Given the description of an element on the screen output the (x, y) to click on. 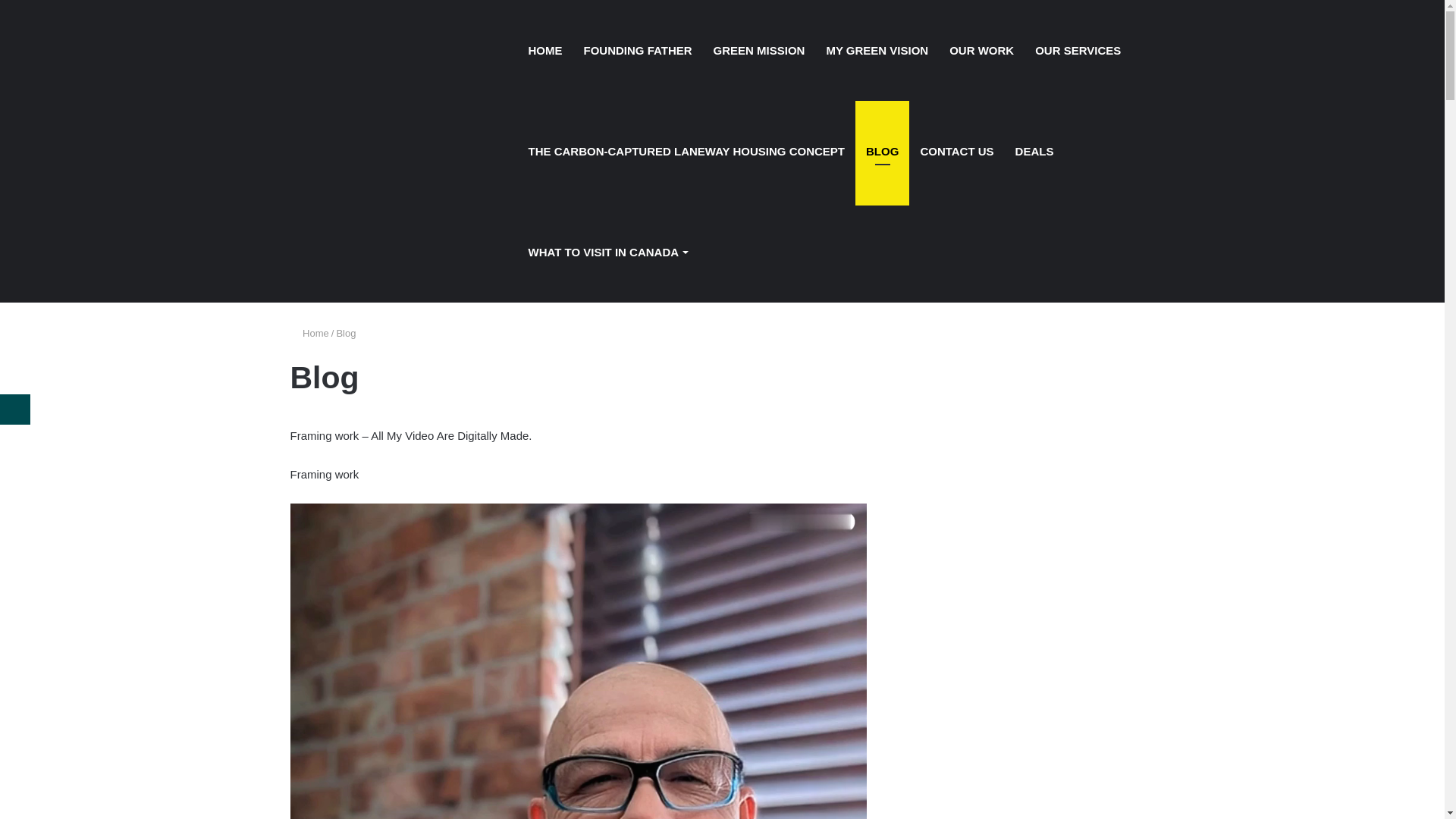
HOME Element type: text (544, 50)
GREEN MISSION Element type: text (758, 50)
WHAT TO VISIT IN CANADA Element type: text (607, 251)
Home Element type: text (308, 332)
MY GREEN VISION Element type: text (876, 50)
DEALS Element type: text (1034, 150)
OUR SERVICES Element type: text (1077, 50)
OUR WORK Element type: text (981, 50)
THE CARBON-CAPTURED LANEWAY HOUSING CONCEPT Element type: text (686, 150)
FOUNDING FATHER Element type: text (637, 50)
BLOG Element type: text (882, 150)
CONTACT US Element type: text (956, 150)
